Given the description of an element on the screen output the (x, y) to click on. 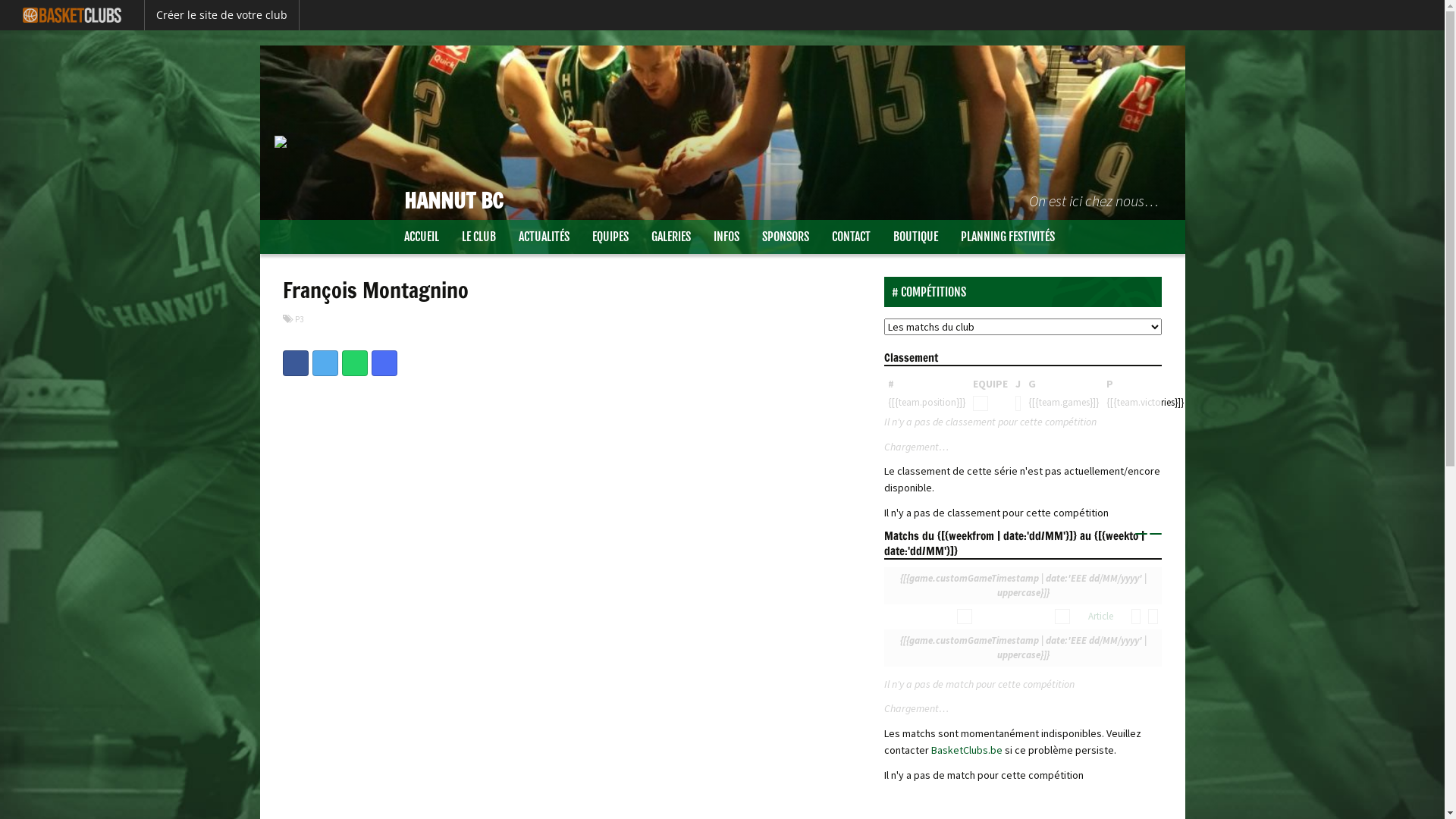
BOUTIQUE Element type: text (914, 236)
SPONSORS Element type: text (785, 236)
Partager sur Telegram Element type: hover (384, 363)
BasketClubs.be Element type: text (967, 749)
GALERIES Element type: text (671, 236)
LE CLUB Element type: text (478, 236)
Partager sur Whatsapp Element type: hover (354, 363)
Partager sur Twitter Element type: hover (325, 363)
Article Element type: text (1100, 615)
P3 Element type: text (298, 318)
ACCUEIL Element type: text (421, 236)
Passer au contenu Element type: text (303, 228)
Partager sur Facebook Element type: hover (294, 363)
EQUIPES Element type: text (610, 236)
CONTACT Element type: text (850, 236)
INFOS Element type: text (726, 236)
